Given the description of an element on the screen output the (x, y) to click on. 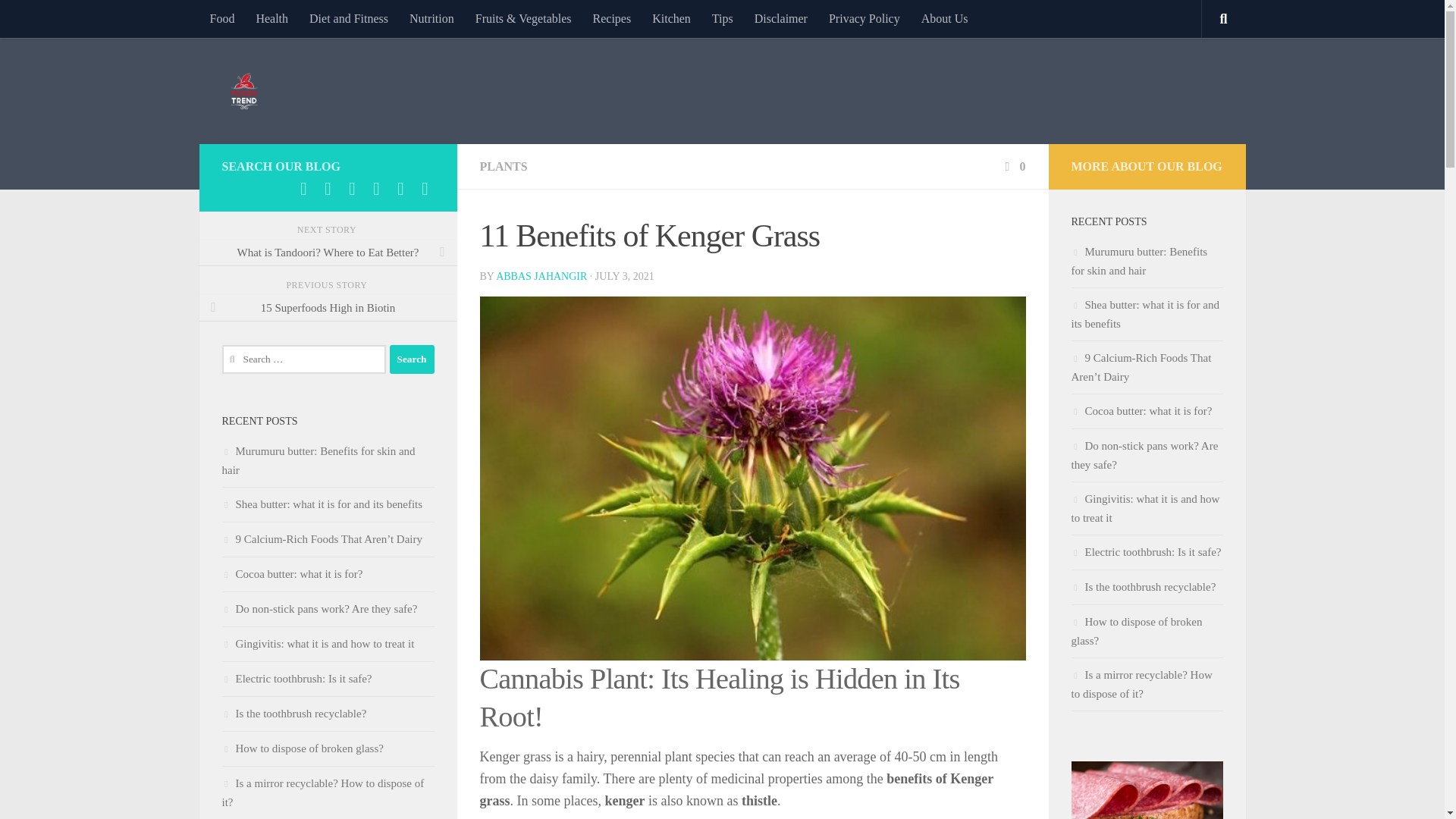
Food (221, 18)
About Us (944, 18)
Search (411, 358)
Search (411, 358)
Skip to content (59, 20)
PLANTS (503, 165)
Posts by Abbas Jahangir (541, 276)
Kitchen (671, 18)
Follow us on Pinterest (351, 188)
Follow us on Facebook (303, 188)
Privacy Policy (864, 18)
ABBAS JAHANGIR (541, 276)
Diet and Fitness (348, 18)
Health (271, 18)
Tips (722, 18)
